Given the description of an element on the screen output the (x, y) to click on. 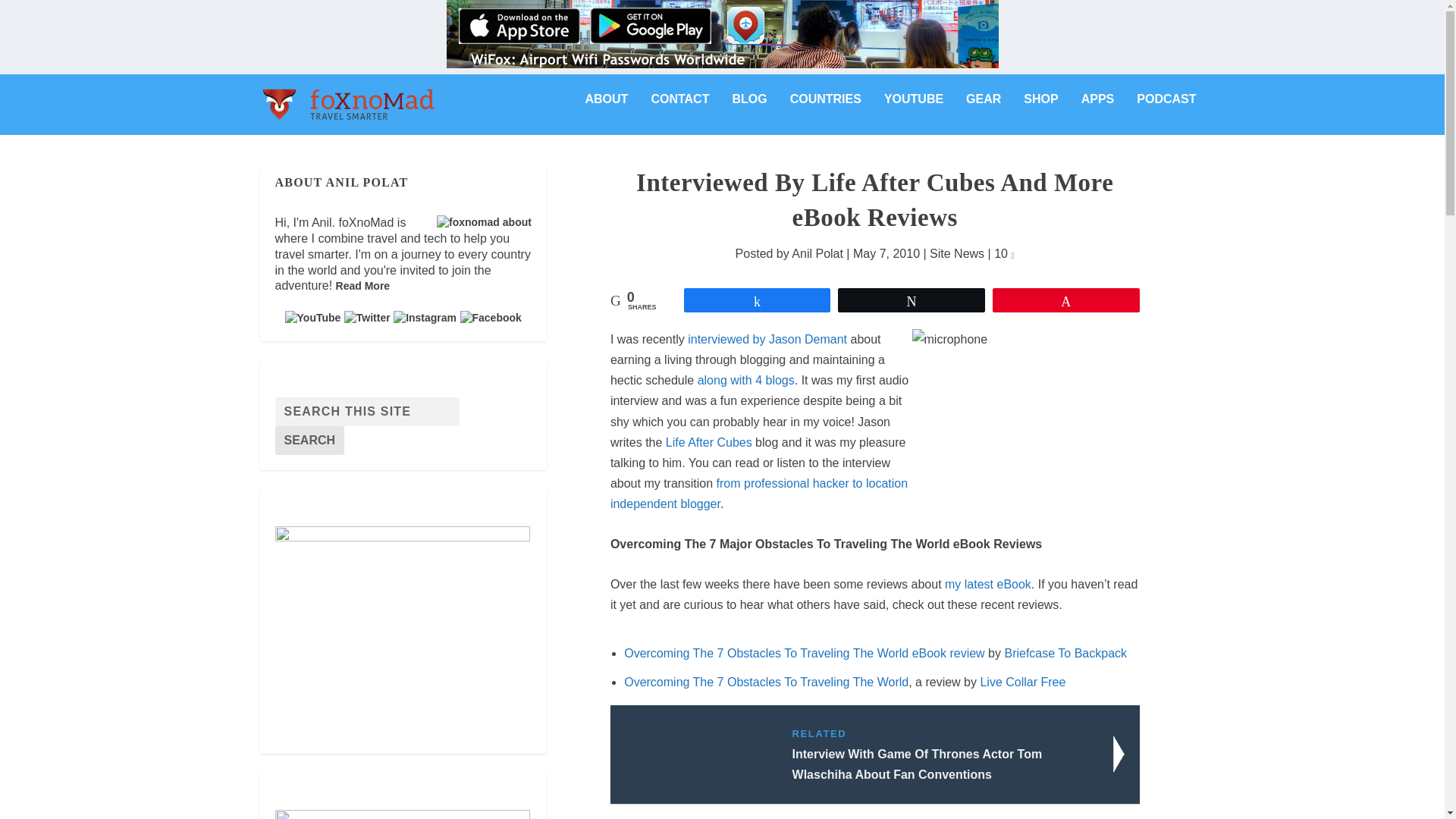
from professional hacker to location independent blogger (758, 493)
Search (310, 440)
BLOG (749, 111)
along (711, 379)
YouTube (312, 317)
Anil Polat (817, 253)
COUNTRIES (825, 111)
Twitter (366, 317)
Instagram (425, 317)
Site News (957, 253)
Posts by Anil Polat (817, 253)
APPS (1098, 111)
CONTACT (679, 111)
